Given the description of an element on the screen output the (x, y) to click on. 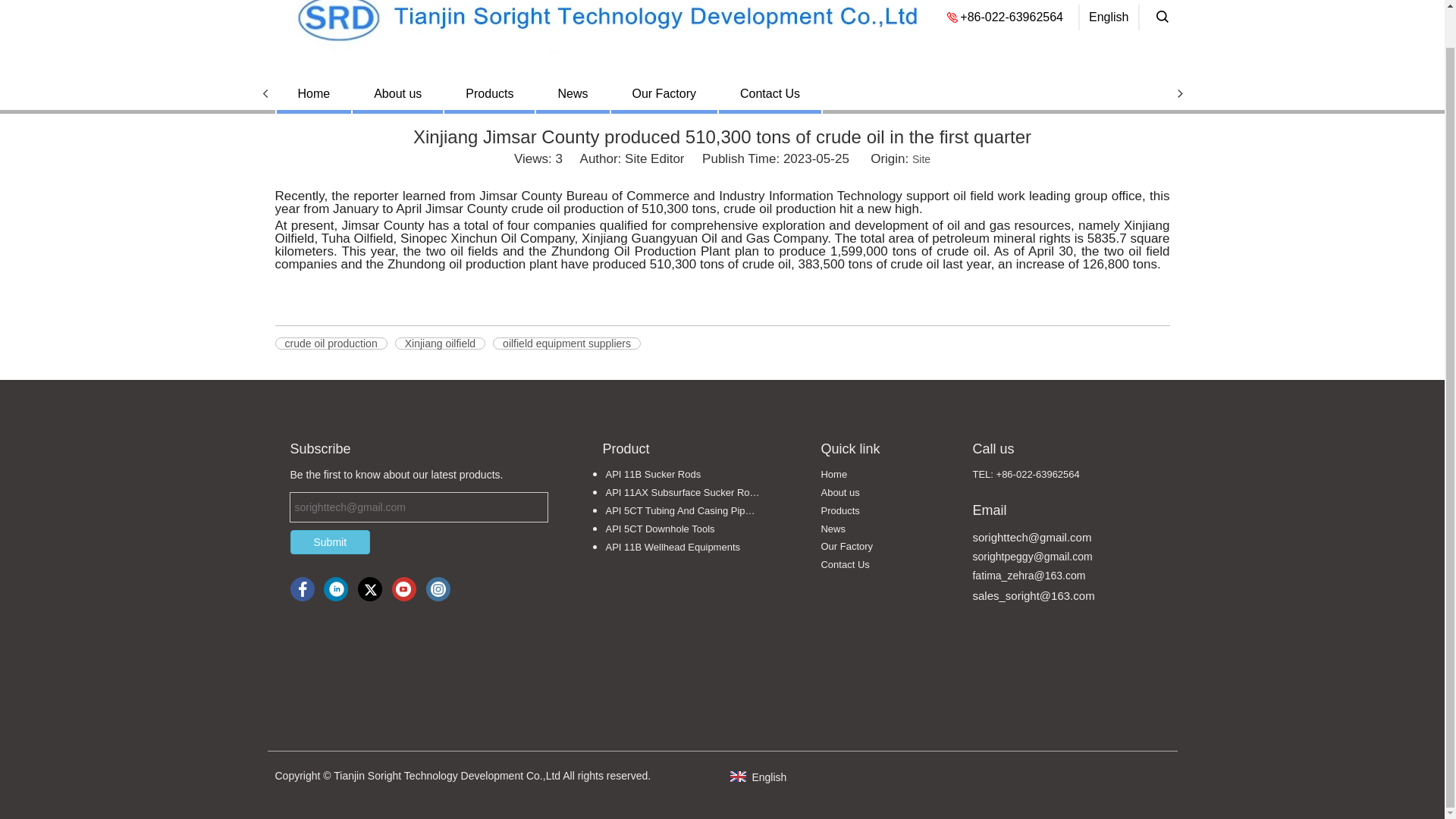
API 5CT Tubing And Casing Pipe Fittings (683, 511)
Our Factory (846, 546)
crude oil production (331, 343)
Home (834, 473)
About us (398, 92)
oilfield equipment suppliers (566, 343)
English (757, 777)
Linkedin (335, 589)
About us (840, 491)
About us (840, 491)
